Given the description of an element on the screen output the (x, y) to click on. 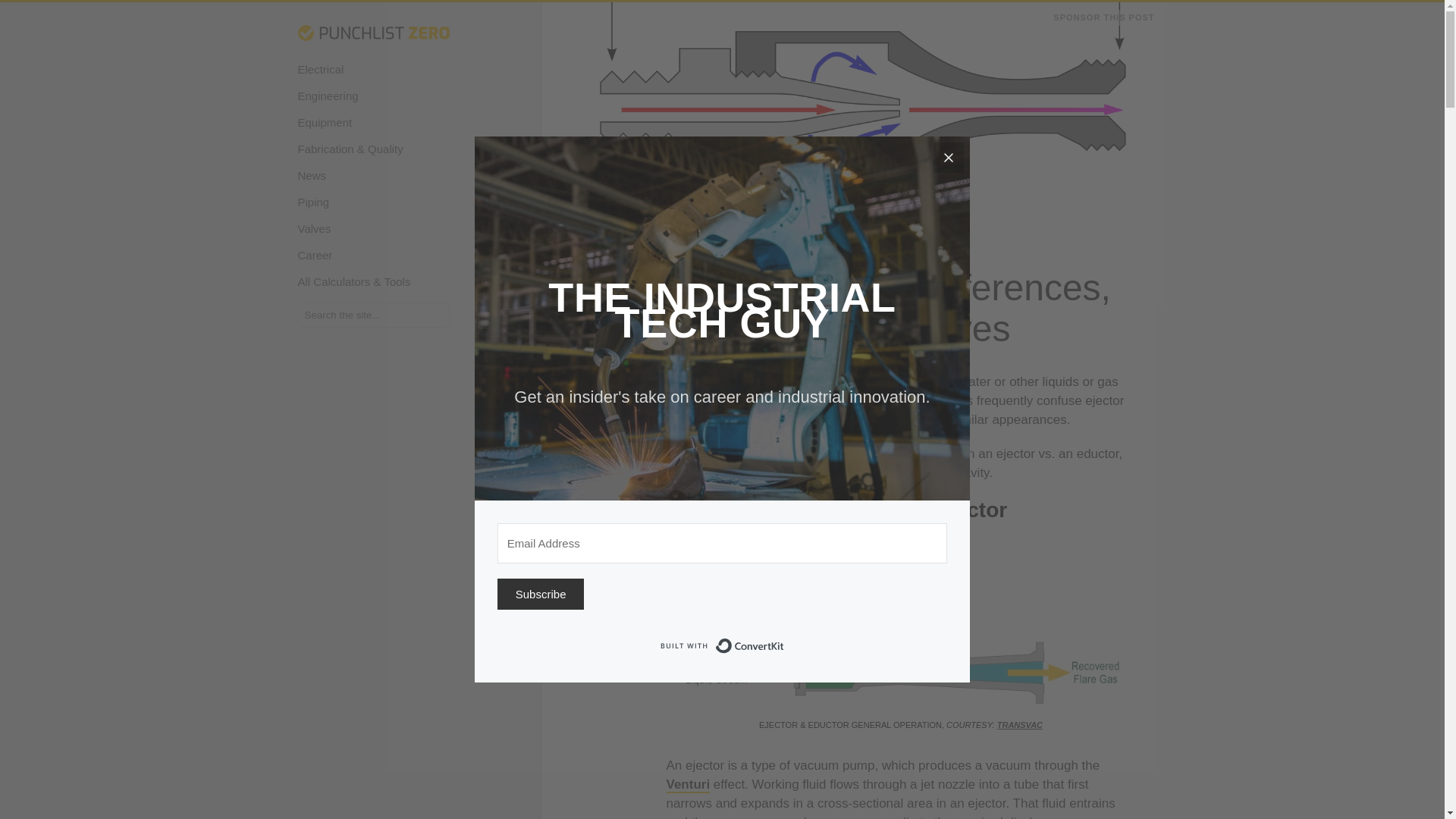
Venturi (687, 785)
EQUIPMENT (595, 233)
Engineering (380, 95)
Piping (380, 202)
Electrical (380, 69)
News (380, 175)
Resources (380, 175)
Valves (380, 228)
Career (380, 254)
Equipment (380, 121)
TRANSVAC (1019, 724)
Valves (380, 228)
Electrical (380, 69)
Piping (380, 202)
Engineering Tools and Calculators (380, 281)
